Given the description of an element on the screen output the (x, y) to click on. 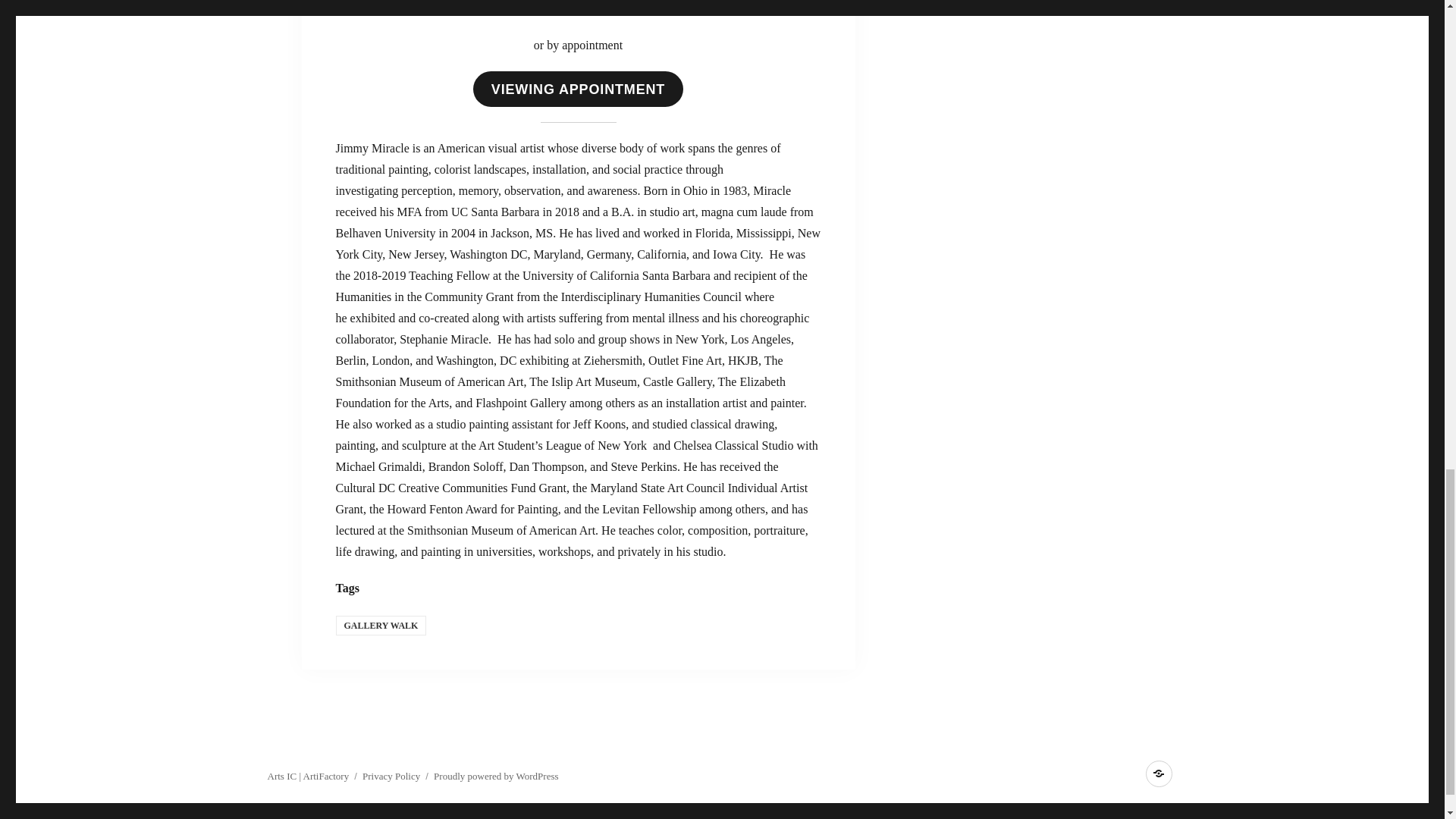
GALLERY WALK (380, 625)
VIEWING APPOINTMENT (577, 89)
